Given the description of an element on the screen output the (x, y) to click on. 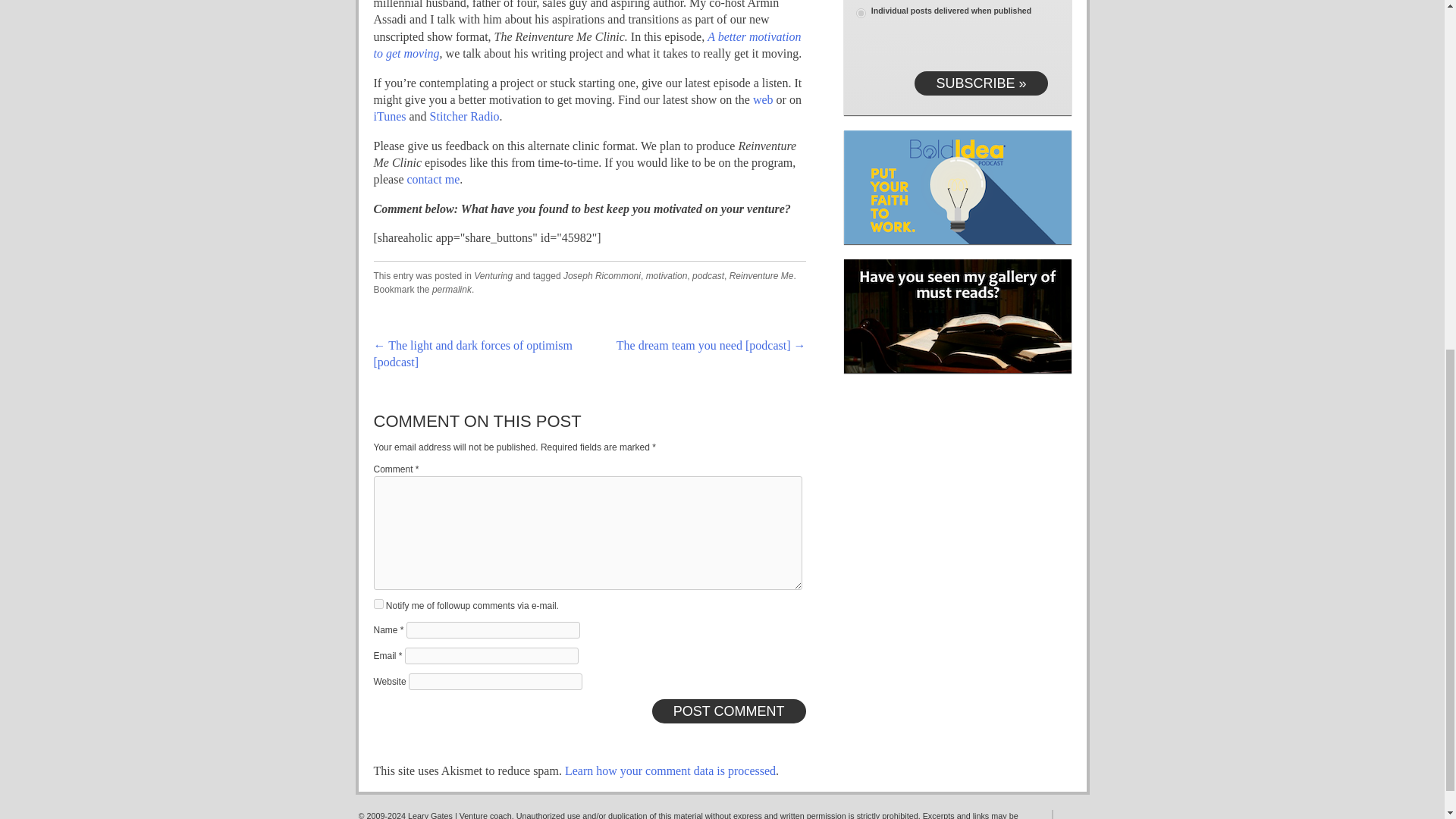
A better motivation to get moving (586, 44)
Learn how your comment data is processed (670, 770)
Stitcher Radio (464, 115)
Joseph Ricommoni (601, 276)
permalink (451, 289)
iTunes (389, 115)
subscribe (377, 603)
contact me (433, 178)
Reinventure Me (761, 276)
motivation (666, 276)
Venturing (493, 276)
Individual posts delivered when published (860, 13)
podcast (708, 276)
web (762, 99)
Post Comment (729, 711)
